Given the description of an element on the screen output the (x, y) to click on. 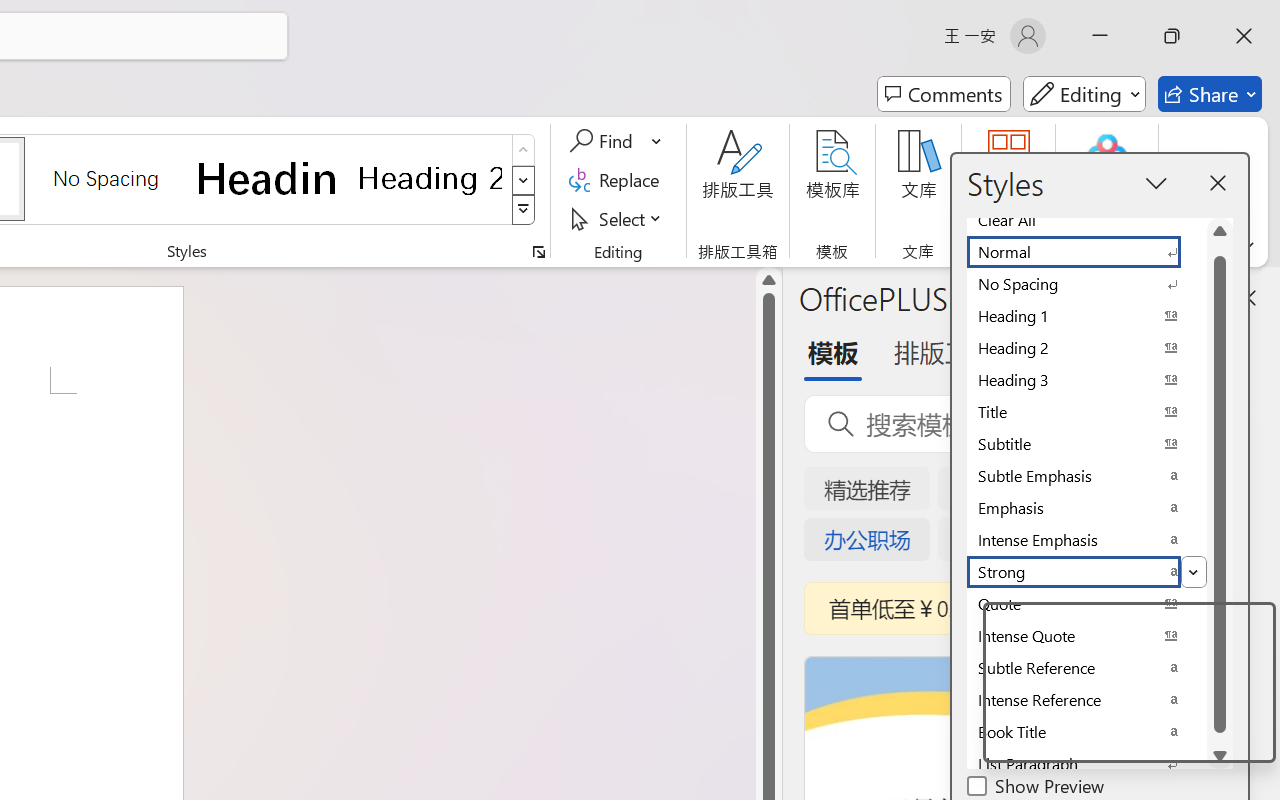
Styles... (538, 252)
Select (618, 218)
Quote (1086, 604)
Subtitle (1086, 443)
Comments (943, 94)
Minimize (1099, 36)
Subtle Reference (1086, 668)
Find (604, 141)
